Given the description of an element on the screen output the (x, y) to click on. 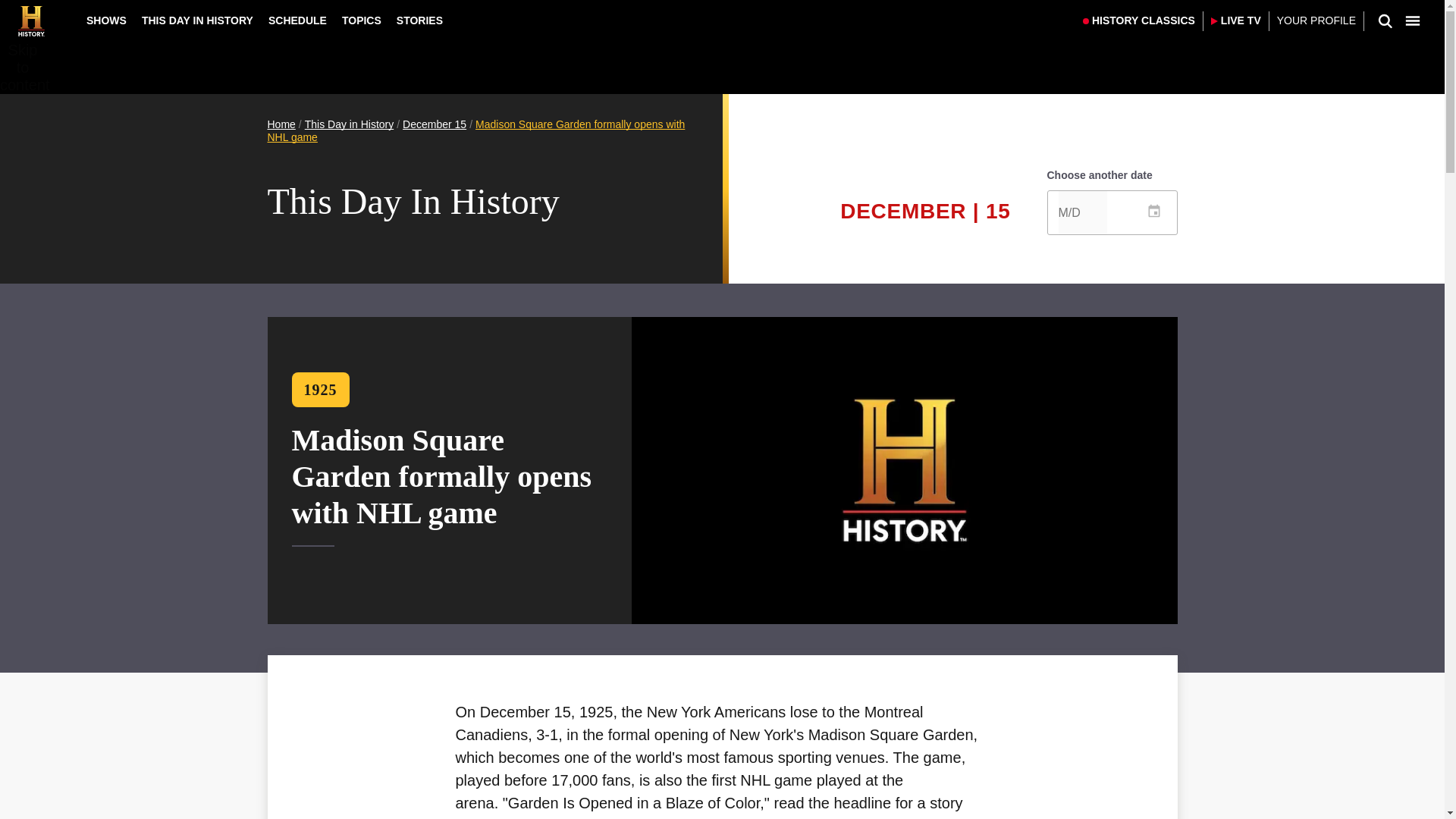
THIS DAY IN HISTORY (196, 20)
This Day in History (348, 123)
December 15 (434, 123)
STORIES (418, 20)
HISTORY CLASSICS (1138, 20)
SHOWS (105, 20)
YOUR PROFILE (1315, 21)
LIVE TV (1236, 20)
SCHEDULE (297, 20)
Home (280, 123)
TOPICS (361, 20)
